Given the description of an element on the screen output the (x, y) to click on. 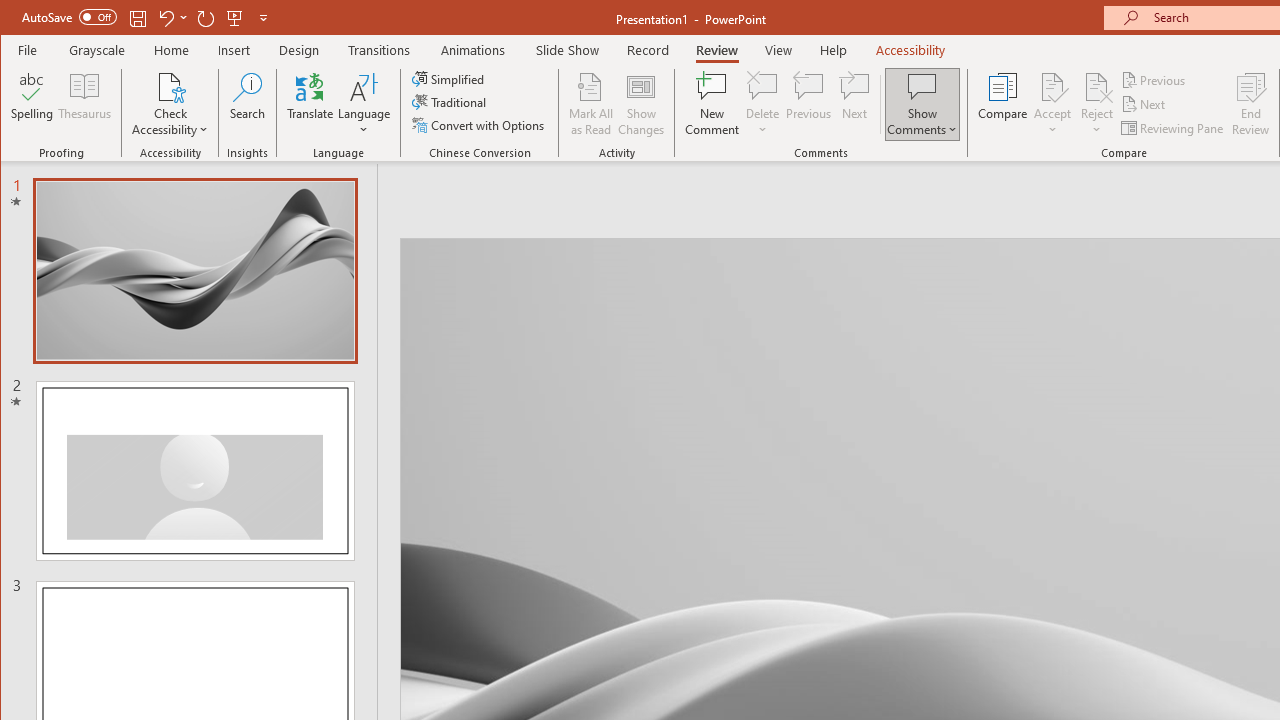
Animations (473, 50)
Traditional (450, 101)
Search (247, 104)
Spelling... (32, 104)
Undo (171, 17)
Home (171, 50)
Translate (310, 104)
From Beginning (235, 17)
Previous (1154, 80)
Show Comments (922, 86)
New Comment (712, 104)
Reject Change (1096, 86)
Thesaurus... (84, 104)
Delete (762, 86)
Simplified (450, 78)
